Given the description of an element on the screen output the (x, y) to click on. 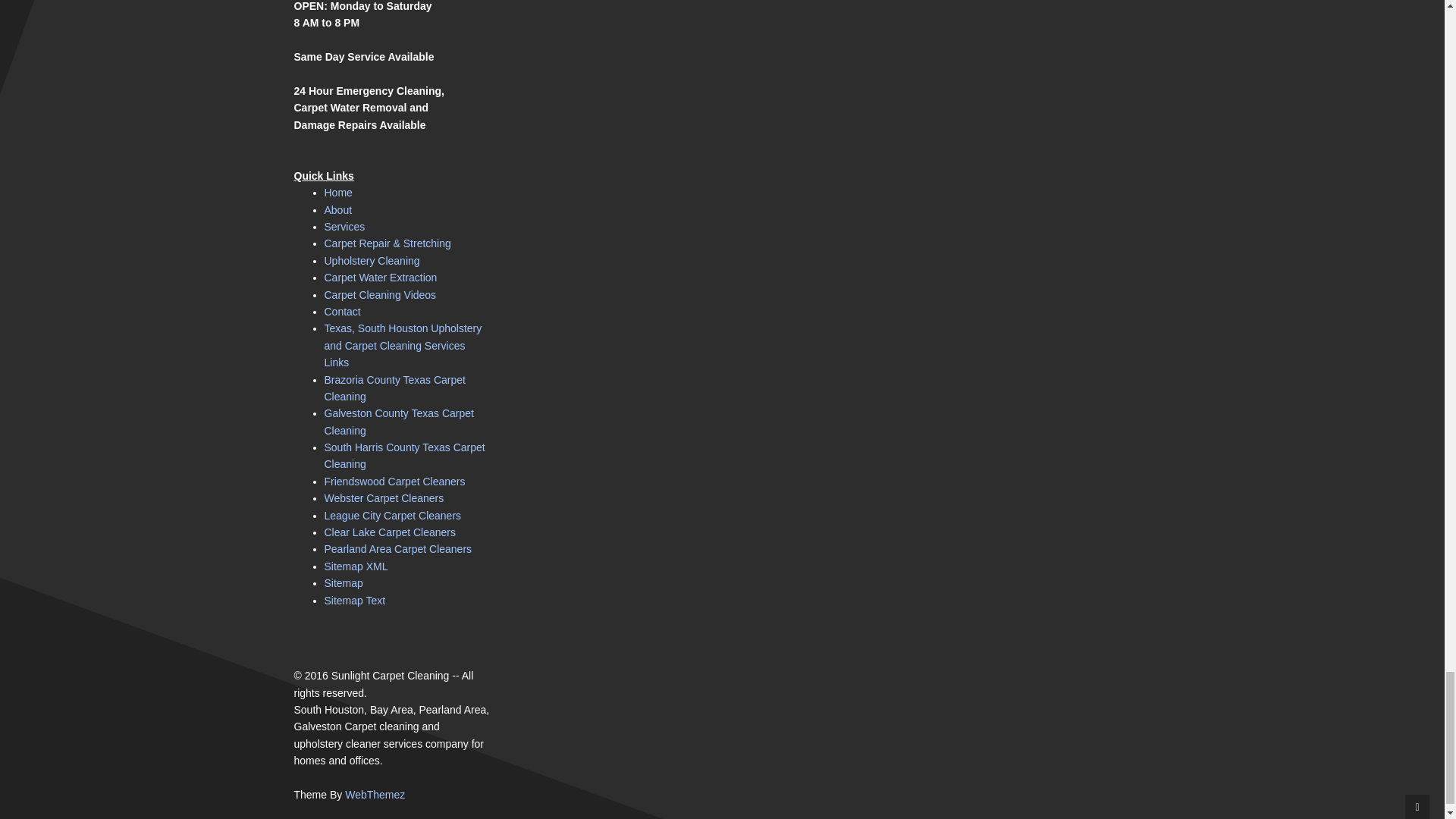
Brazoria County Texas Carpet Cleaning (394, 387)
About (338, 209)
Contact (342, 311)
Home (338, 192)
Clear Lake Carpet Cleaners (390, 532)
Carpet Cleaning Videos (380, 295)
Services (344, 226)
Upholstery Cleaning (372, 260)
League City Carpet Cleaners (392, 515)
